Given the description of an element on the screen output the (x, y) to click on. 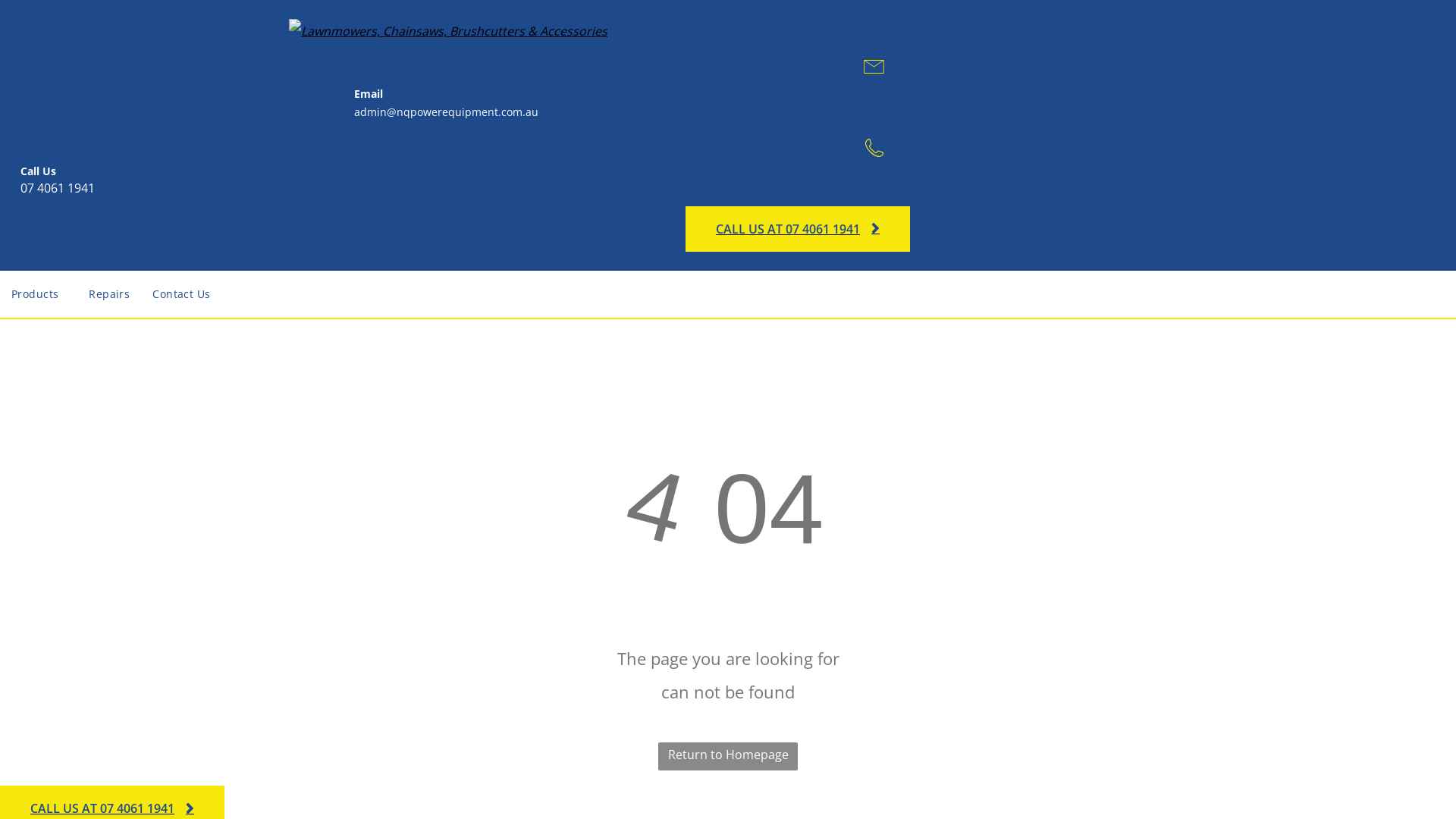
07 4061 1941 Element type: text (57, 187)
Lawnmowers, Chainsaws, Brushcutters & Accessories Element type: hover (447, 30)
Products Element type: text (38, 294)
CALL US AT 07 4061 1941 Element type: text (797, 228)
Contact Us Element type: text (181, 294)
Repairs Element type: text (109, 294)
admin@nqpowerequipment.com.au Element type: text (446, 111)
Return to Homepage Element type: text (727, 756)
